Given the description of an element on the screen output the (x, y) to click on. 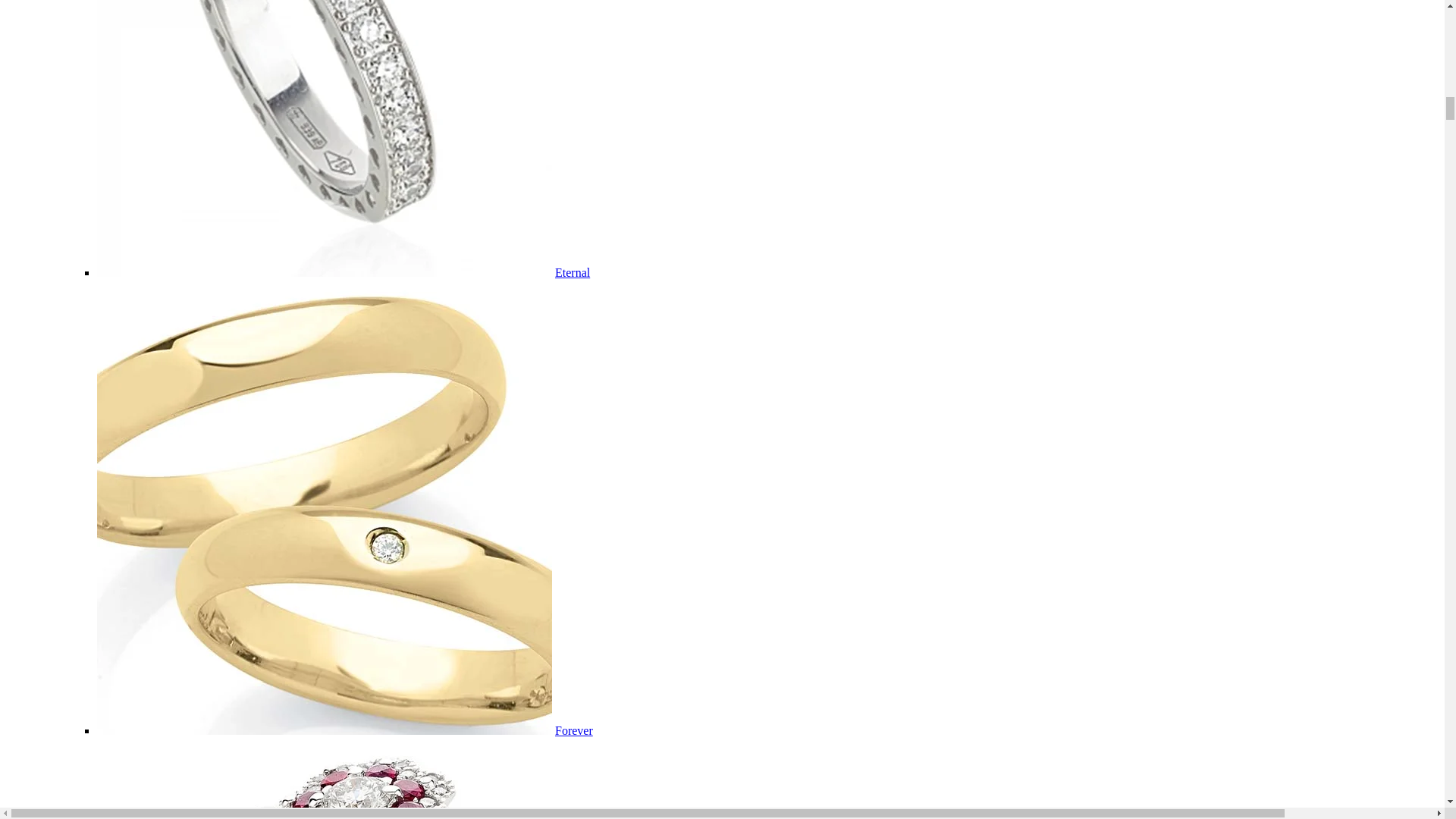
Forever (573, 730)
Eternal (571, 272)
